Given the description of an element on the screen output the (x, y) to click on. 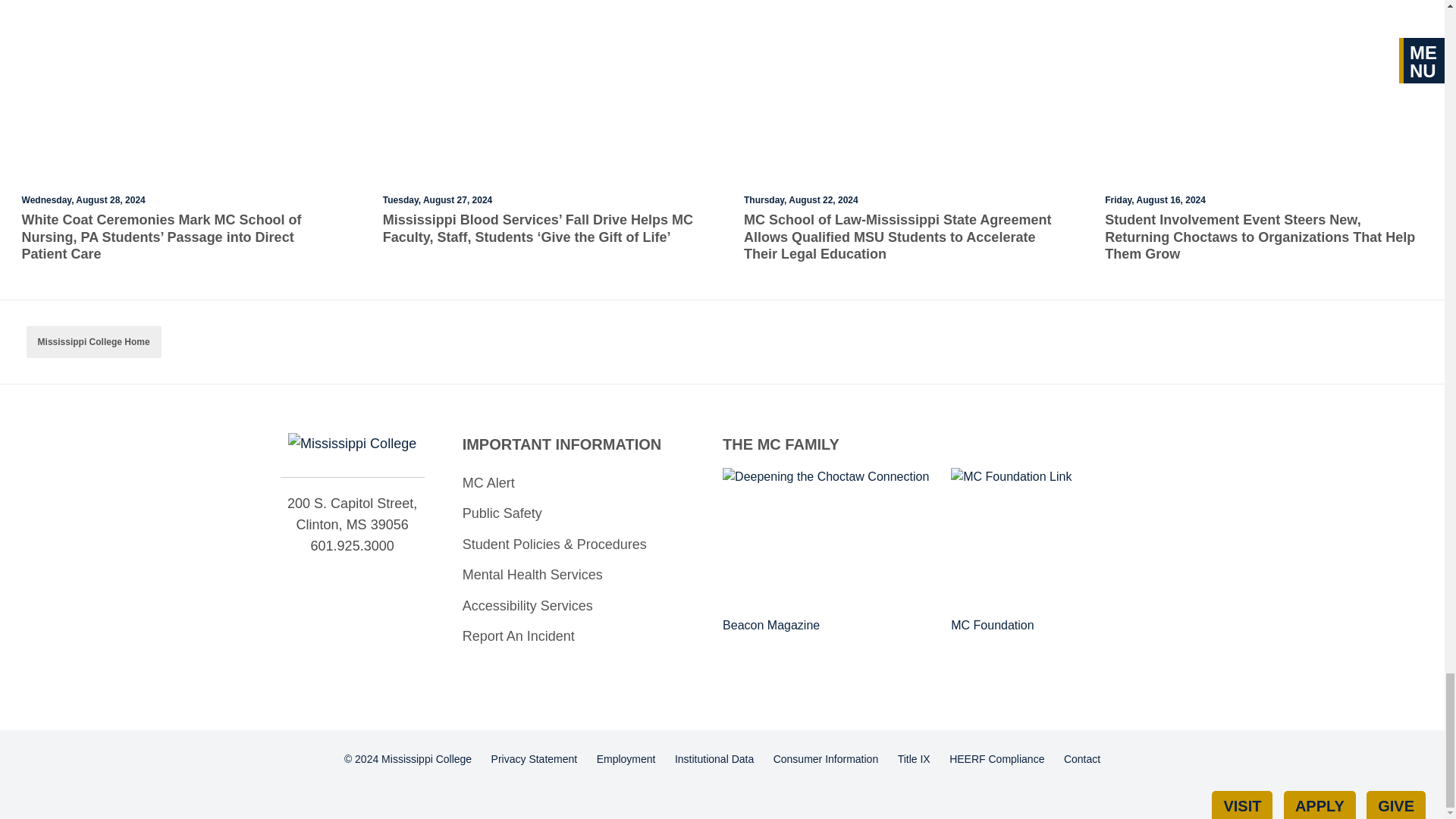
Institutional Data (713, 759)
Privacy Statement (534, 759)
Beacon Magazine (829, 550)
Instagram (365, 576)
MC Alert (581, 482)
Accessibility Services (581, 605)
Public Safety (581, 513)
Twitter (339, 576)
Report An Incident (581, 635)
LinkedIn (390, 576)
